Given the description of an element on the screen output the (x, y) to click on. 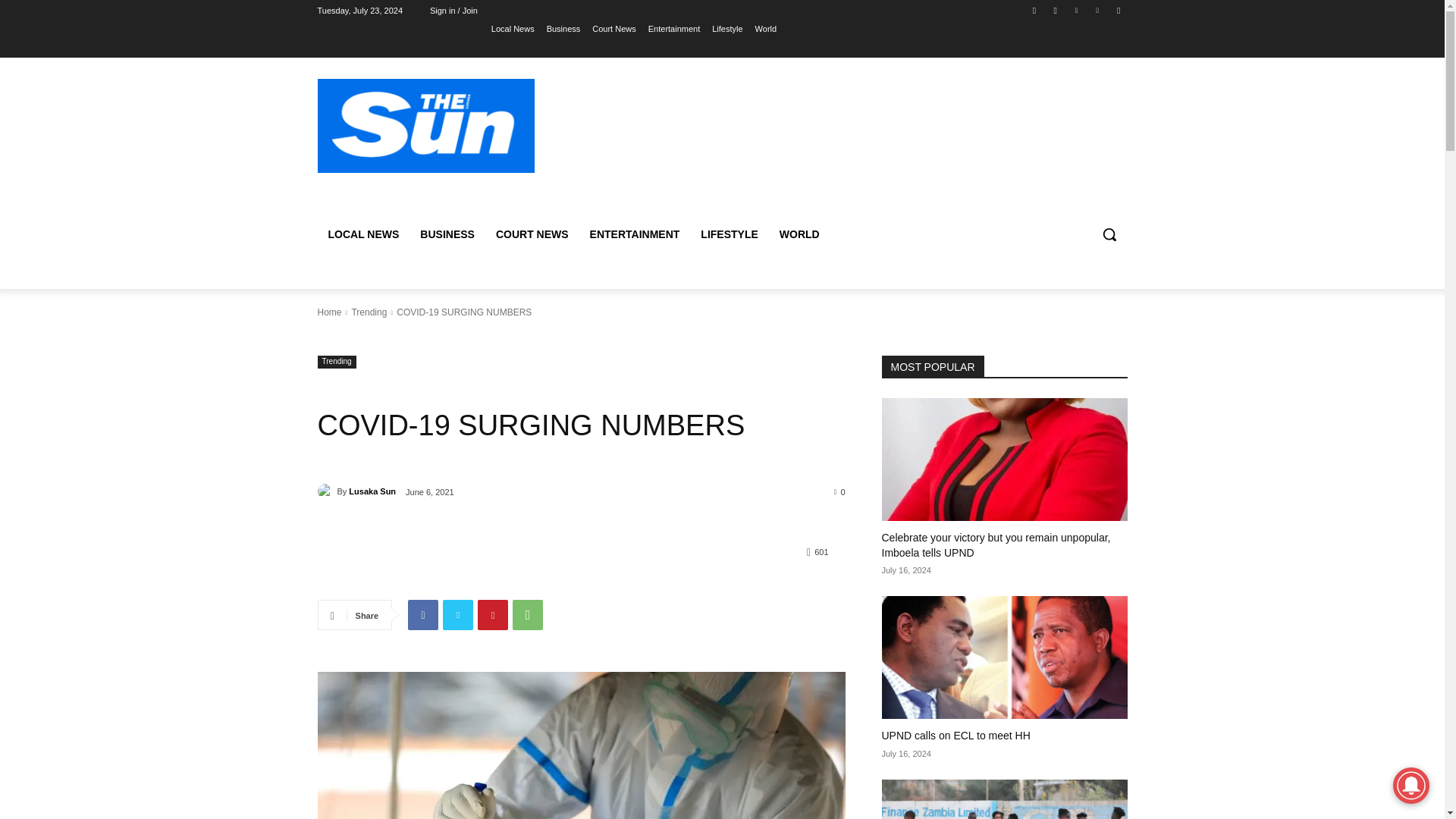
Trending (368, 312)
ENTERTAINMENT (634, 234)
COURT NEWS (531, 234)
Advertisement (846, 141)
Facebook (422, 614)
Local News (513, 28)
Twitter (457, 614)
Entertainment (673, 28)
Pinterest (492, 614)
Twitter (1075, 9)
Vimeo (1097, 9)
Home (328, 312)
LOCAL NEWS (363, 234)
Lusaka Sun (326, 491)
Lifestyle (726, 28)
